Given the description of an element on the screen output the (x, y) to click on. 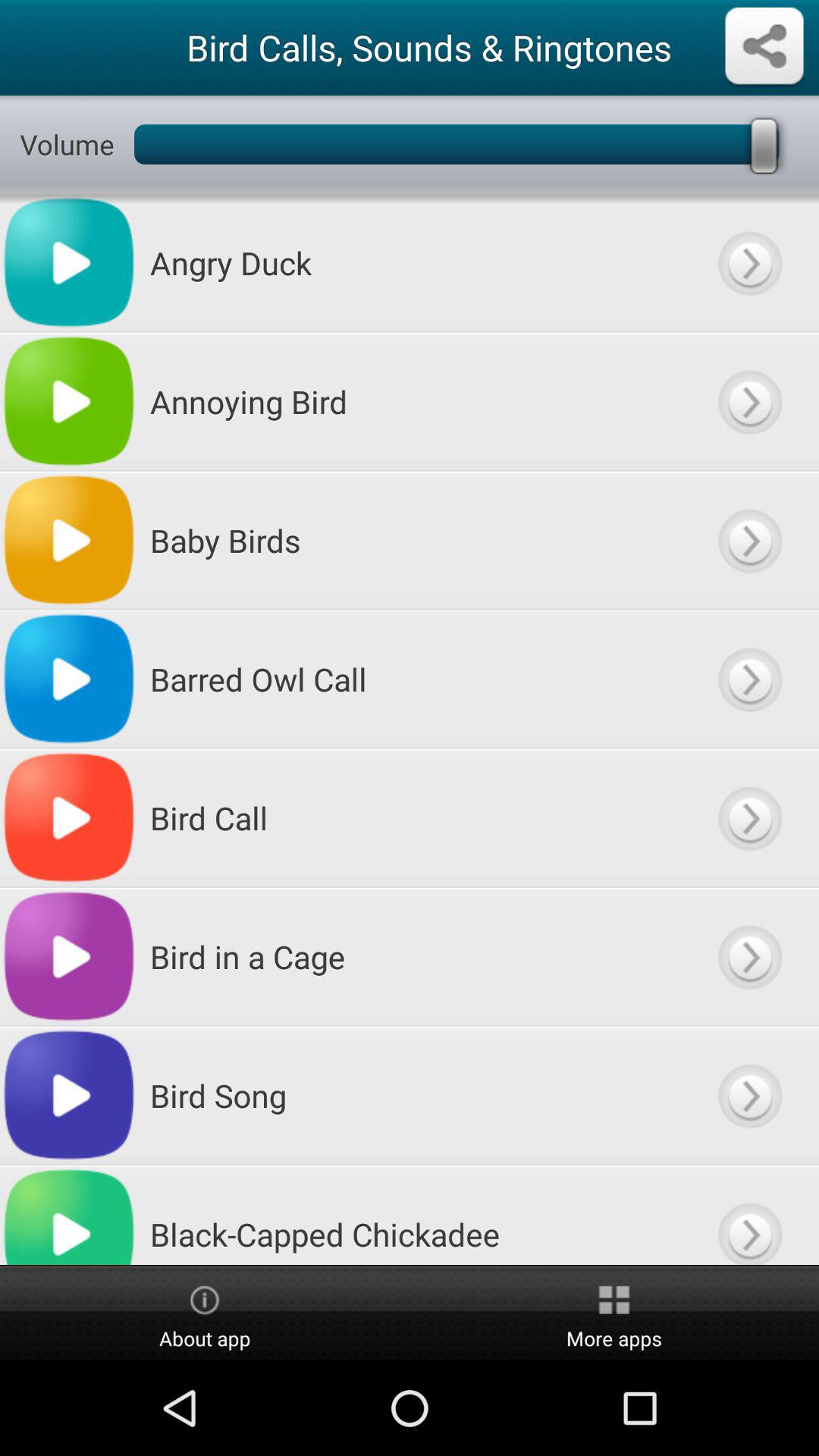
select item (749, 540)
